Given the description of an element on the screen output the (x, y) to click on. 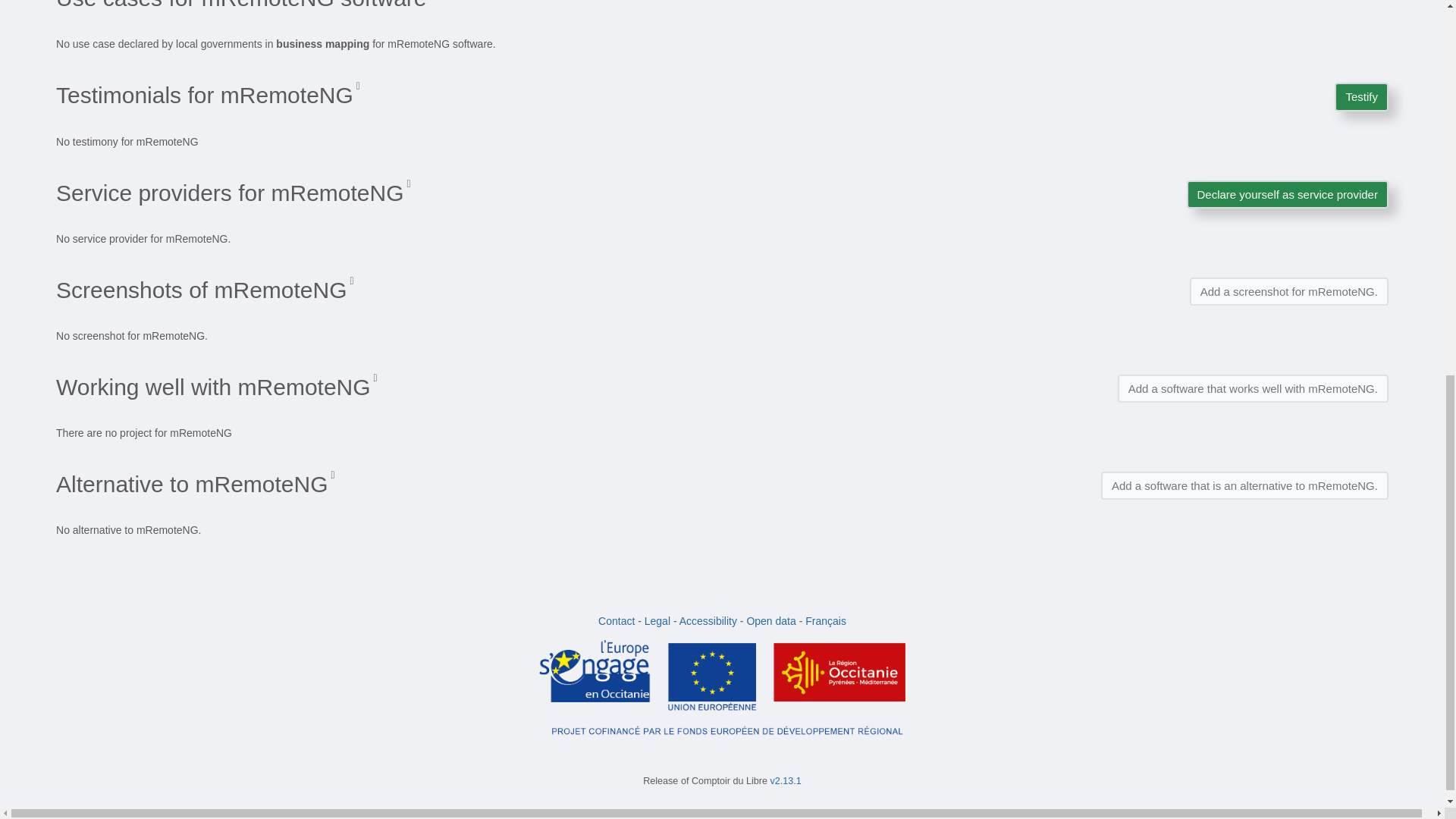
Testify (1362, 96)
Add a software that is an alternative to mRemoteNG. (1244, 485)
Add a screenshot for mRemoteNG. (1289, 291)
Add a software that works well with mRemoteNG. (1253, 388)
Legal (657, 621)
Contact (616, 621)
Use open data (769, 621)
Open data (769, 621)
v2.13.1 (786, 780)
Accessibility (707, 621)
